Given the description of an element on the screen output the (x, y) to click on. 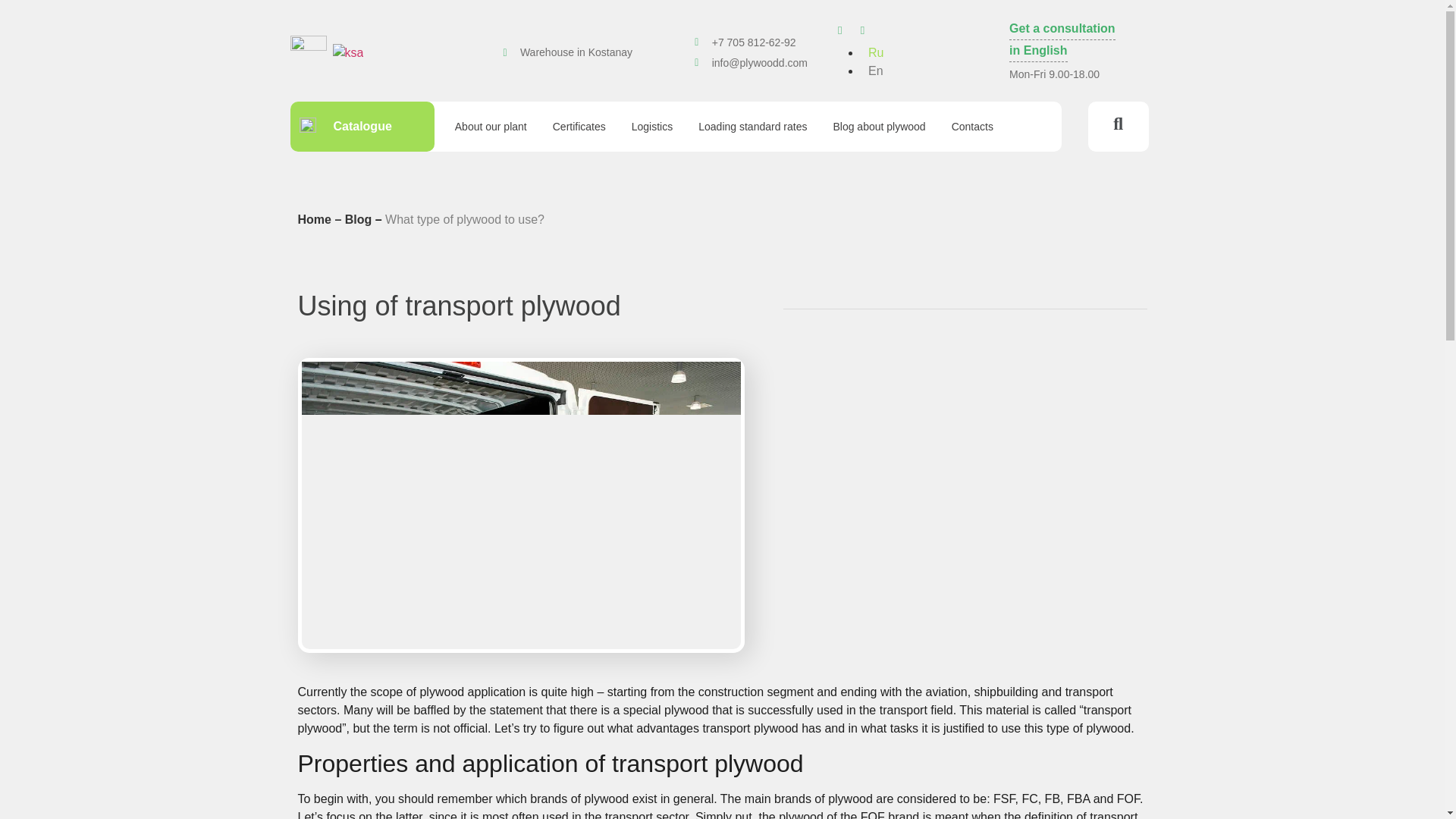
ksa (346, 53)
Ru (871, 51)
Catalogue (361, 126)
Certificates (579, 126)
Get a consultation (1062, 28)
About our plant (491, 126)
Logistics (651, 126)
in English (1038, 50)
En (871, 70)
